Given the description of an element on the screen output the (x, y) to click on. 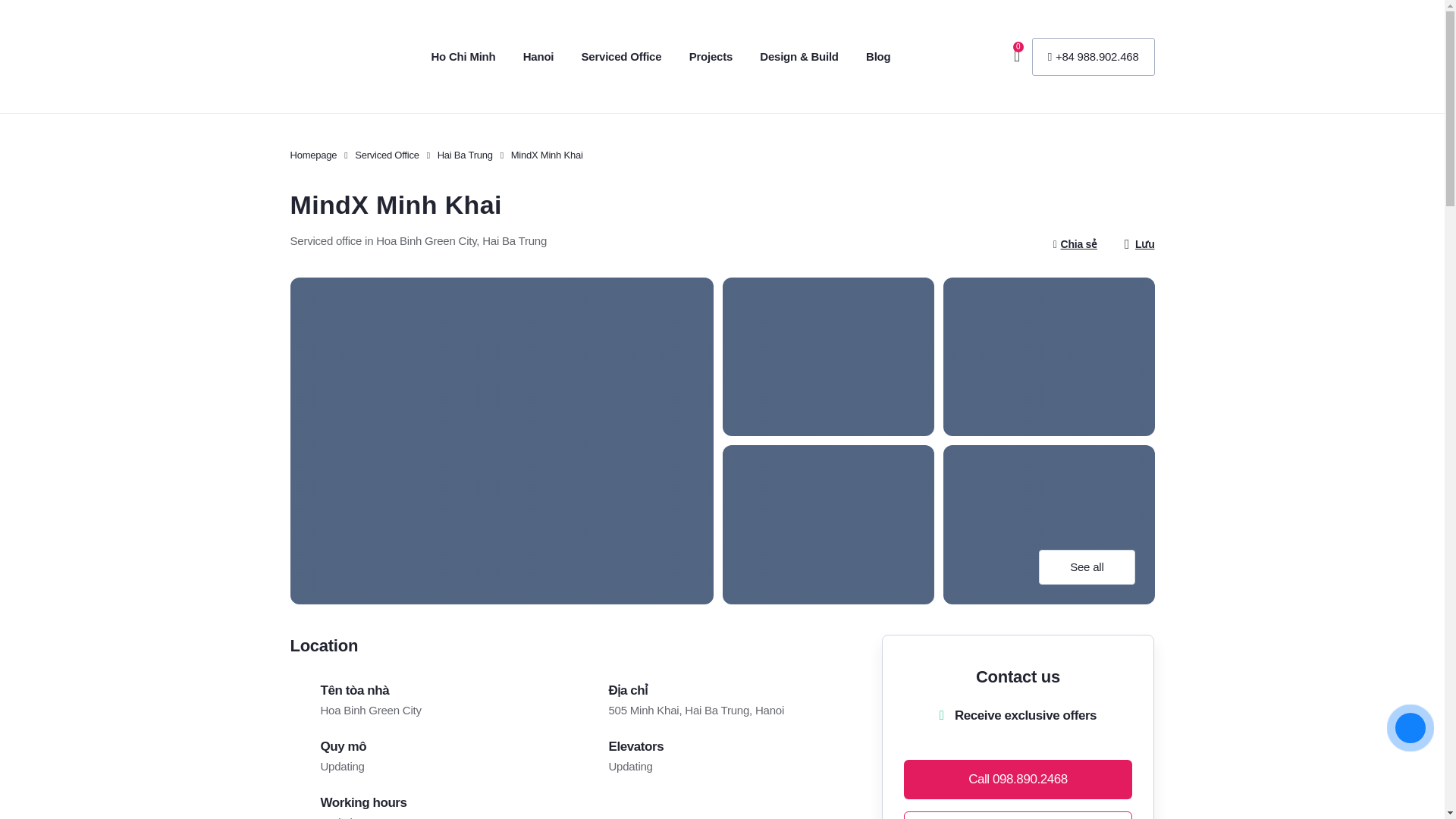
Ho Chi Minh (462, 56)
MindX Minh Khai (547, 154)
Hai Ba Trung (465, 154)
Homepage (312, 154)
Serviced Office (621, 56)
Serviced Office (387, 154)
